Given the description of an element on the screen output the (x, y) to click on. 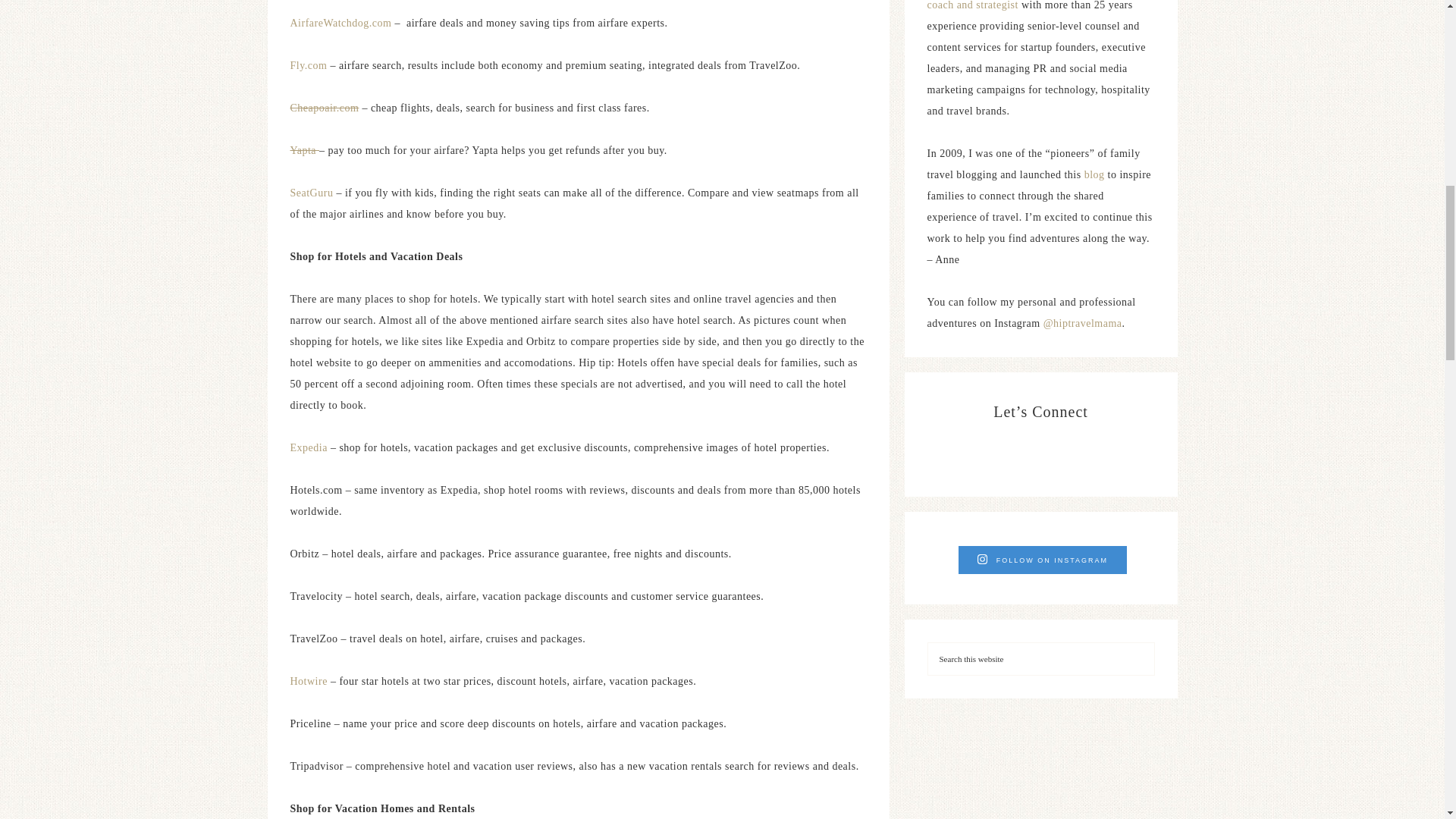
Cheapoair.com (323, 107)
AirfareWatchdog.com (340, 22)
Expedia (307, 447)
Hotwire (307, 681)
Yapta (303, 150)
SeatGuru (311, 193)
Fly.com (307, 65)
